Given the description of an element on the screen output the (x, y) to click on. 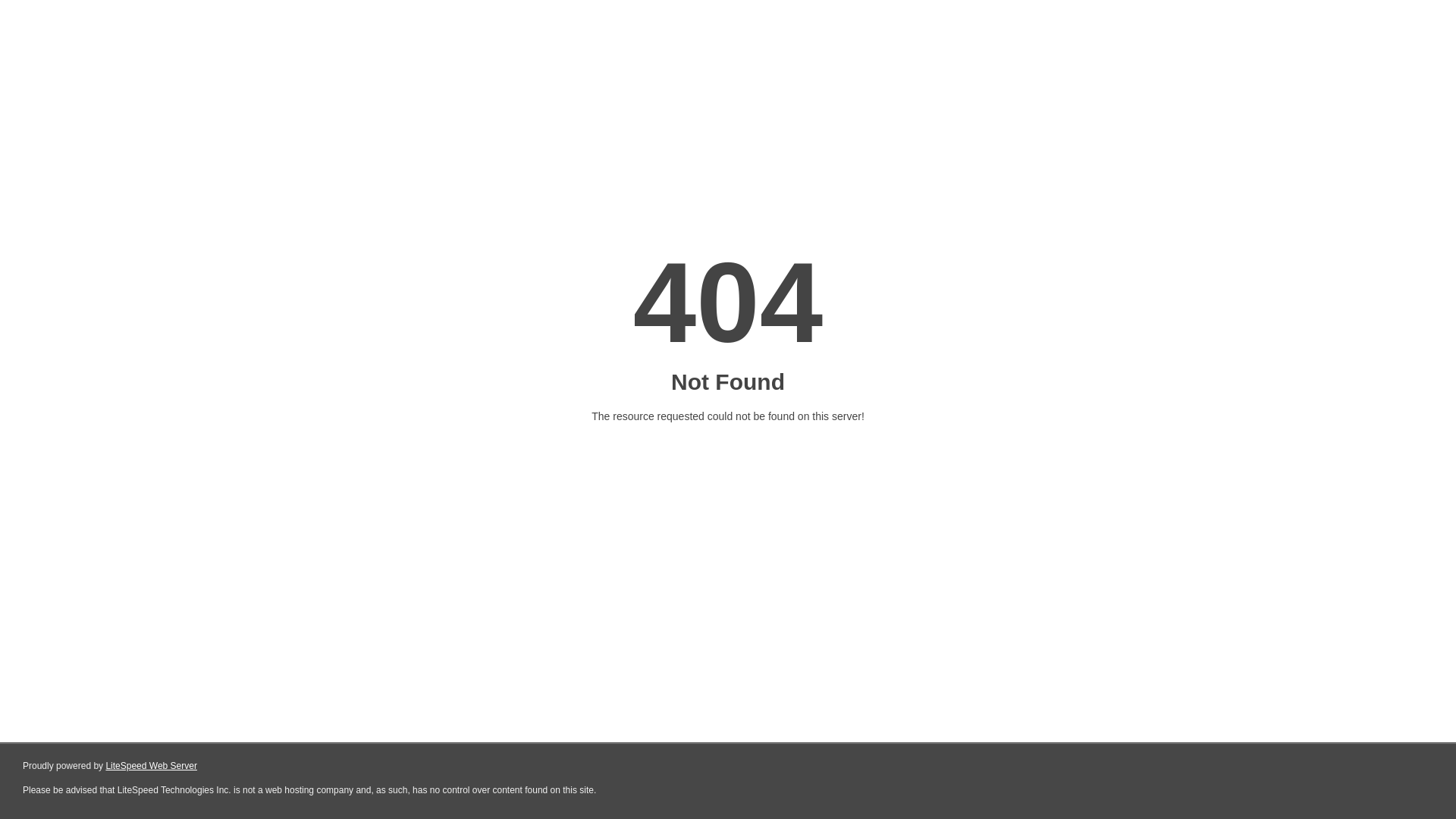
LiteSpeed Web Server Element type: text (151, 765)
